Given the description of an element on the screen output the (x, y) to click on. 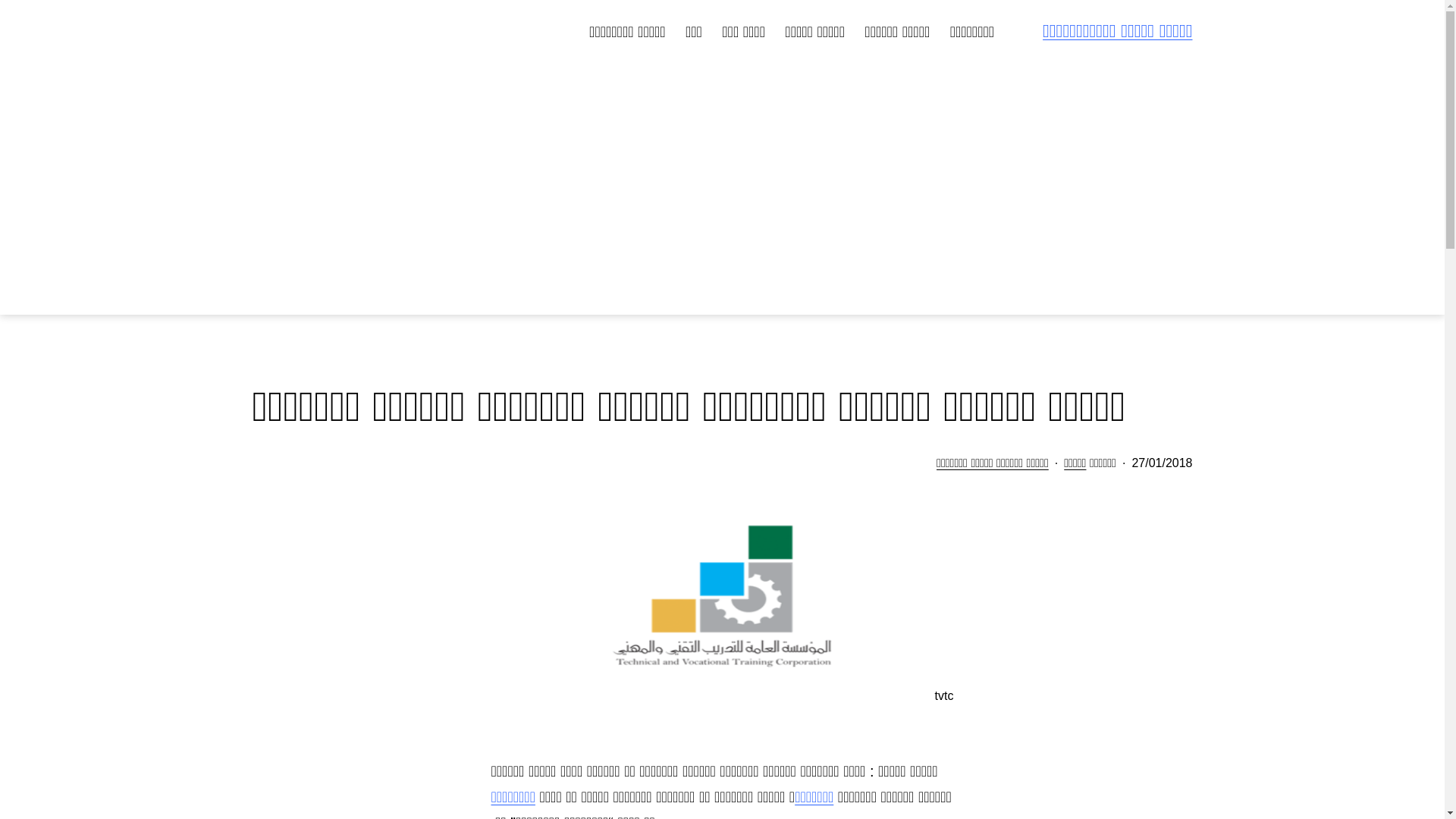
Advertisement Element type: hover (721, 187)
